Given the description of an element on the screen output the (x, y) to click on. 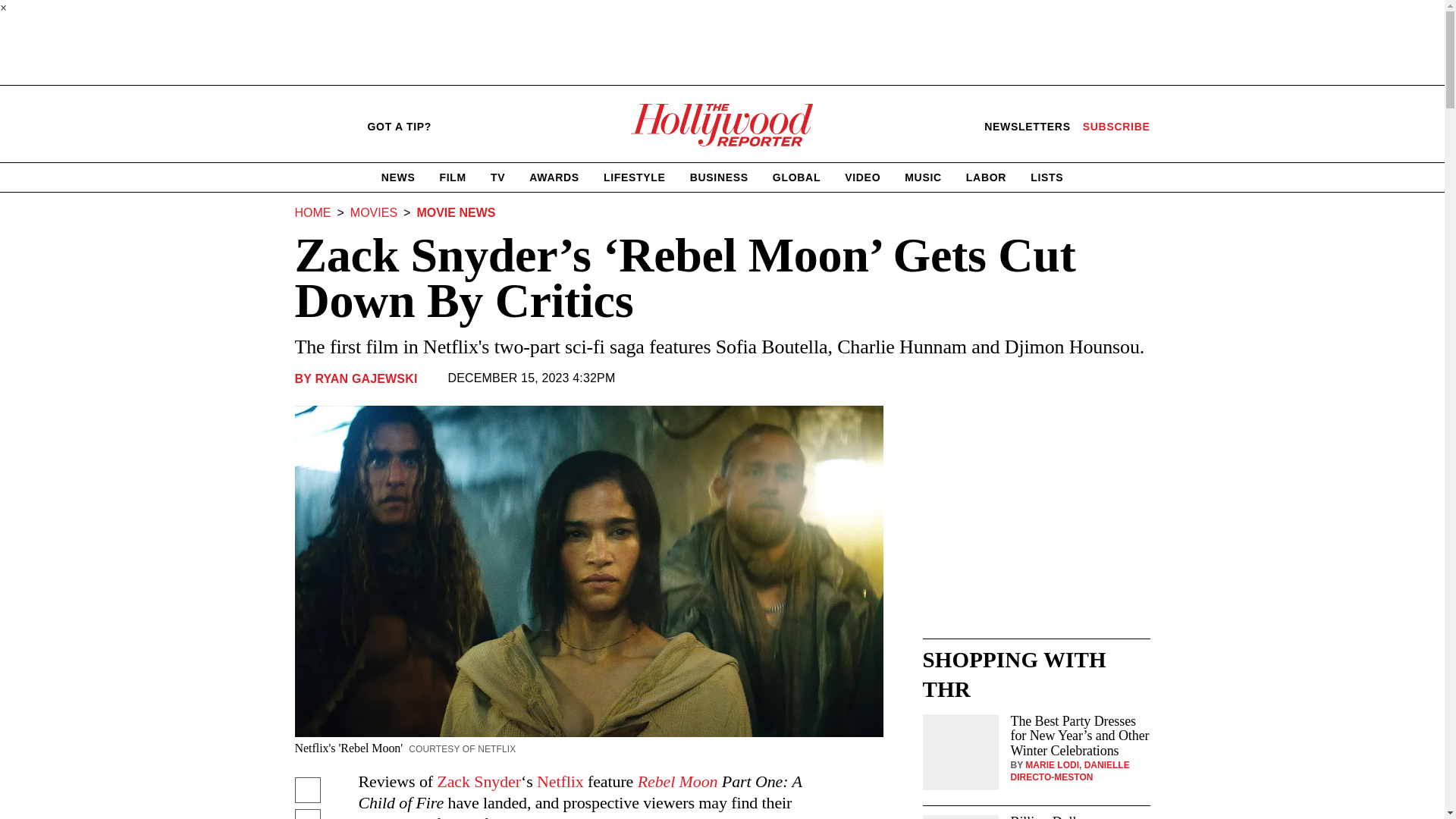
GOT A TIP? (398, 126)
LABOR (986, 177)
GLOBAL (797, 177)
LIFESTYLE (299, 126)
Click to expand search form (634, 177)
AWARDS (336, 126)
LISTS (364, 378)
NEWSLETTERS (554, 177)
